Given the description of an element on the screen output the (x, y) to click on. 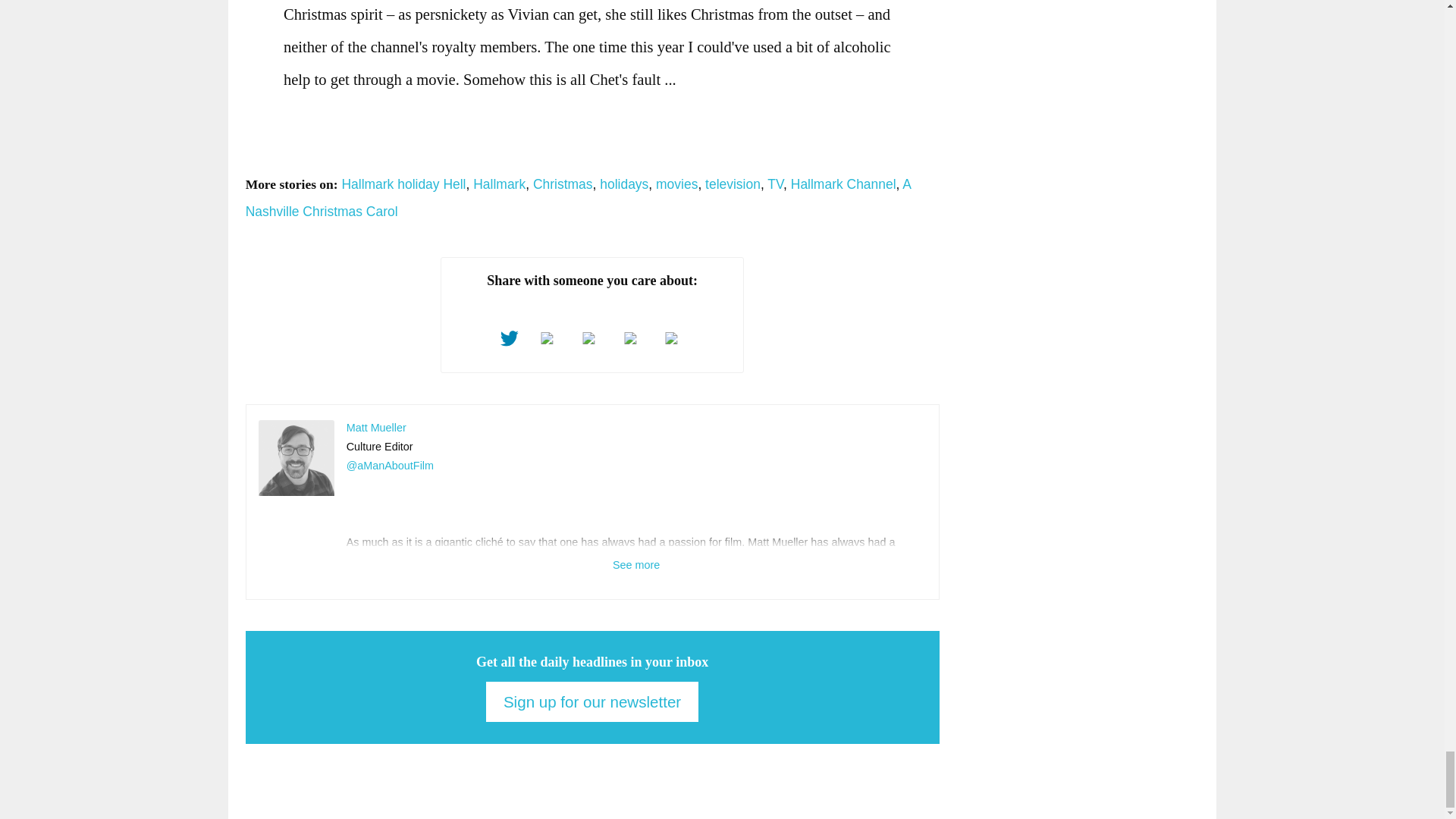
A Nashville Christmas Carol (578, 198)
Hallmark Channel (843, 183)
Hallmark (499, 183)
Matt Mueller (296, 458)
holidays (623, 183)
More articles by Matt Mueller (376, 427)
TV (775, 183)
Christmas (562, 183)
Hallmark holiday Hell (402, 183)
movies (676, 183)
